Given the description of an element on the screen output the (x, y) to click on. 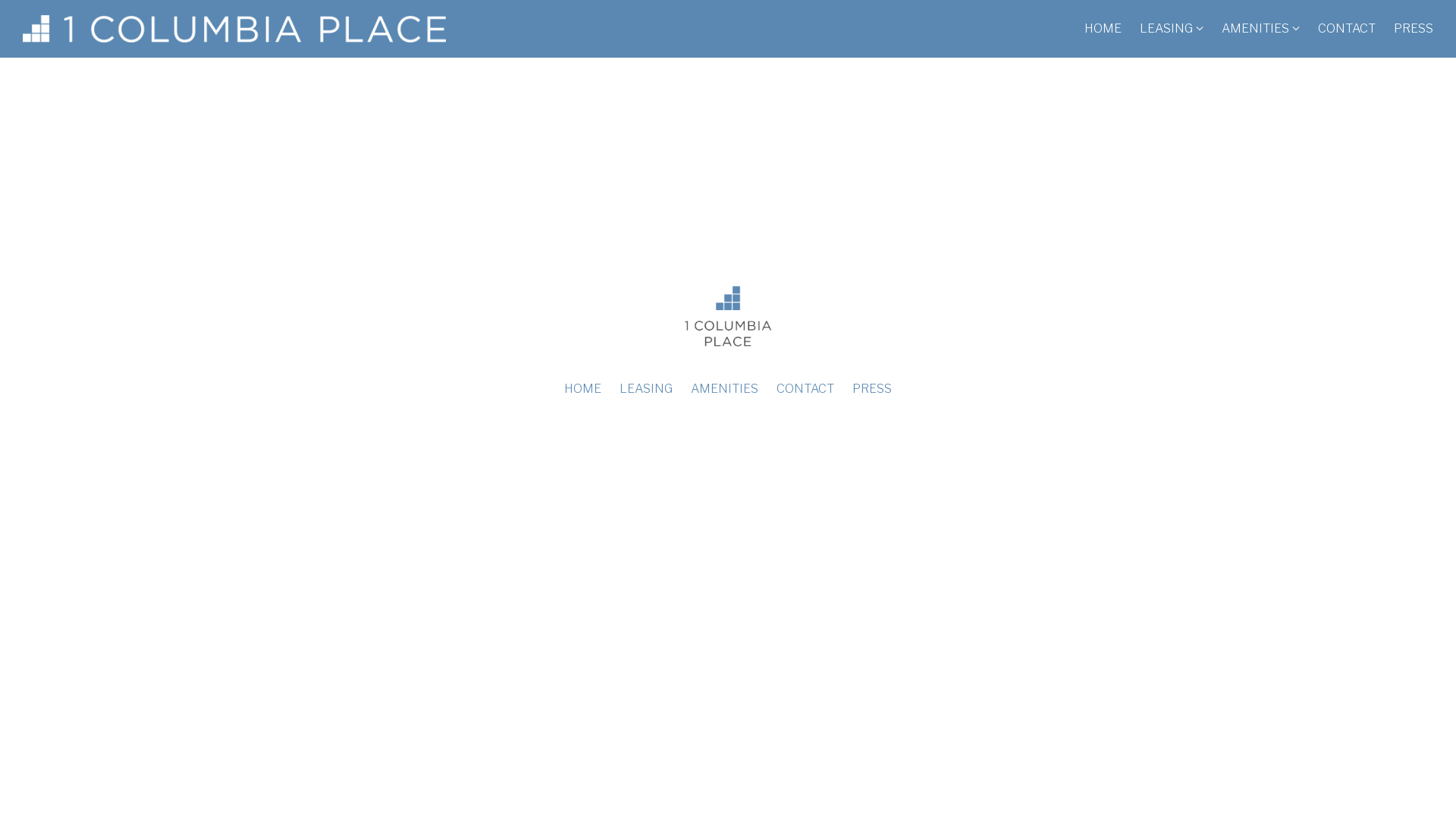
LEASING Element type: text (645, 388)
CONTACT Element type: text (805, 388)
PRESS Element type: text (871, 388)
PRESS Element type: text (1413, 28)
AMENITIES Element type: text (724, 388)
CONTACT Element type: text (1346, 28)
LEASING Element type: text (1165, 28)
HOME Element type: text (1102, 28)
HOME Element type: text (582, 388)
AMENITIES Element type: text (1255, 28)
